Given the description of an element on the screen output the (x, y) to click on. 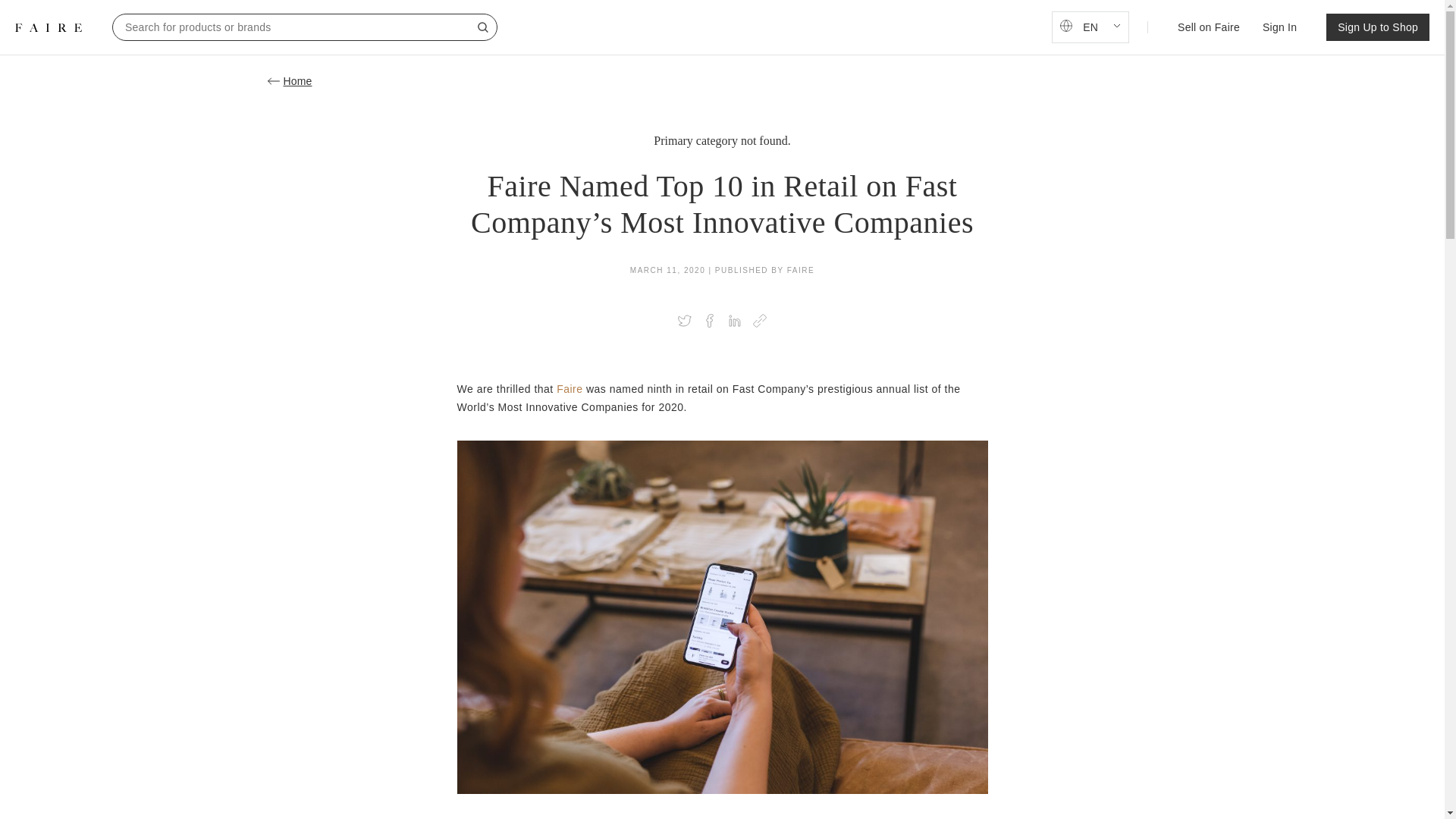
Faire (569, 388)
Sell on Faire (1208, 27)
FAIRE (47, 26)
Home (721, 80)
Sign In (1279, 27)
Sign Up to Shop (1378, 27)
